Given the description of an element on the screen output the (x, y) to click on. 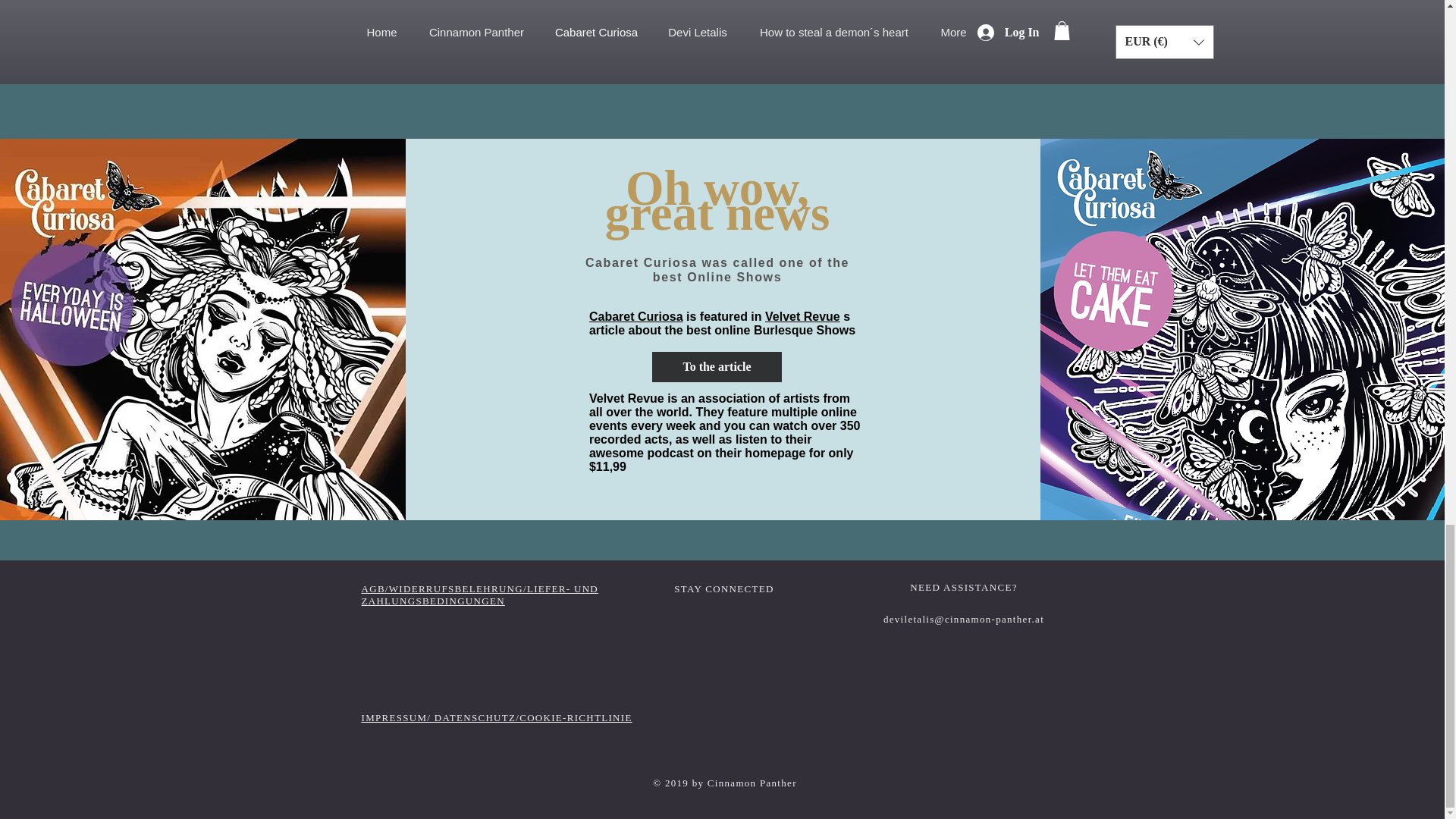
Velvet Revue (802, 316)
Cabaret Curiosa (635, 316)
To the article (716, 367)
